Given the description of an element on the screen output the (x, y) to click on. 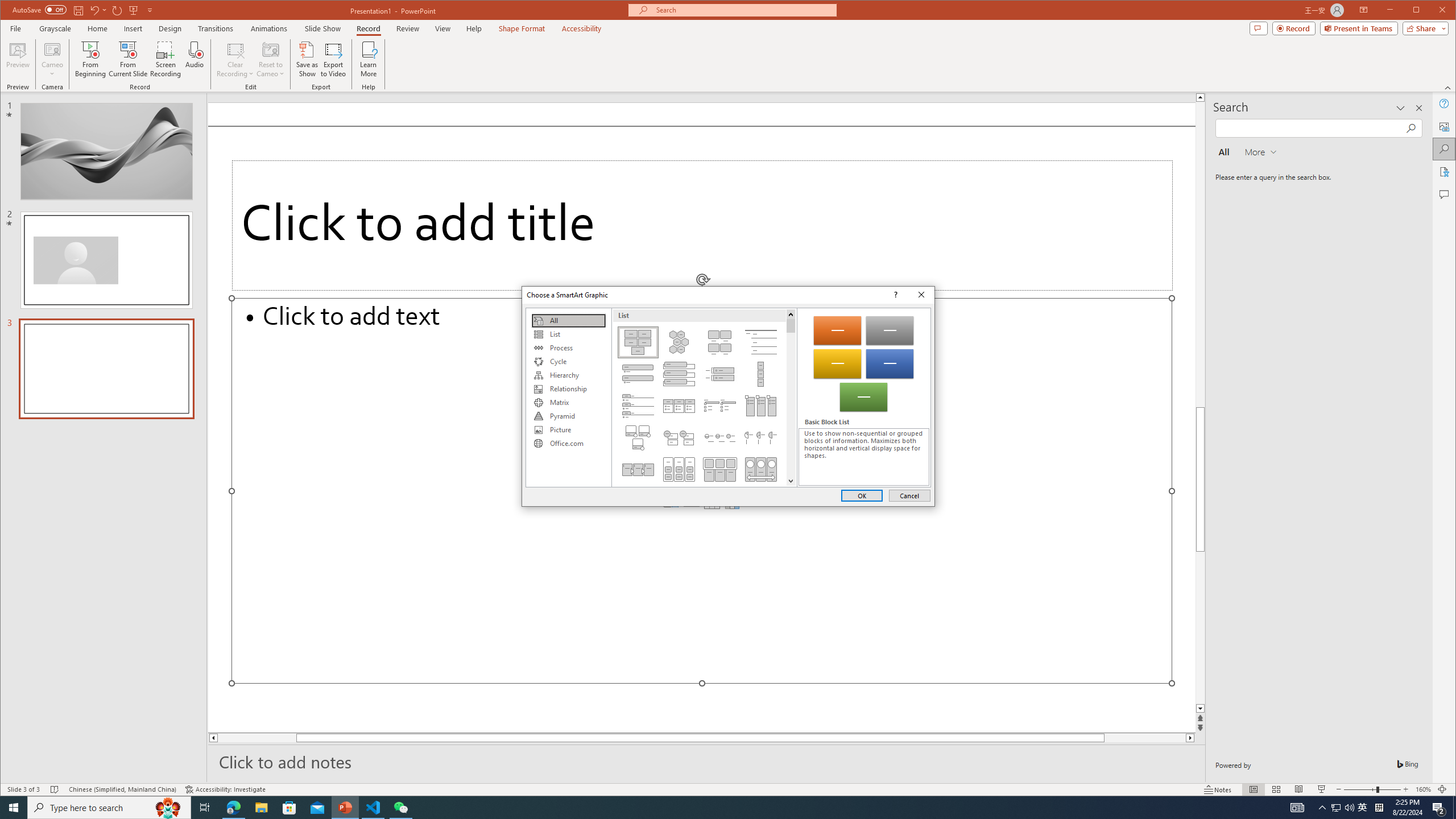
Hierarchy (568, 375)
Continuous Picture List (761, 469)
Relationship (568, 388)
Horizontal Bullet List (678, 405)
Microsoft Edge - 1 running window (233, 807)
